Given the description of an element on the screen output the (x, y) to click on. 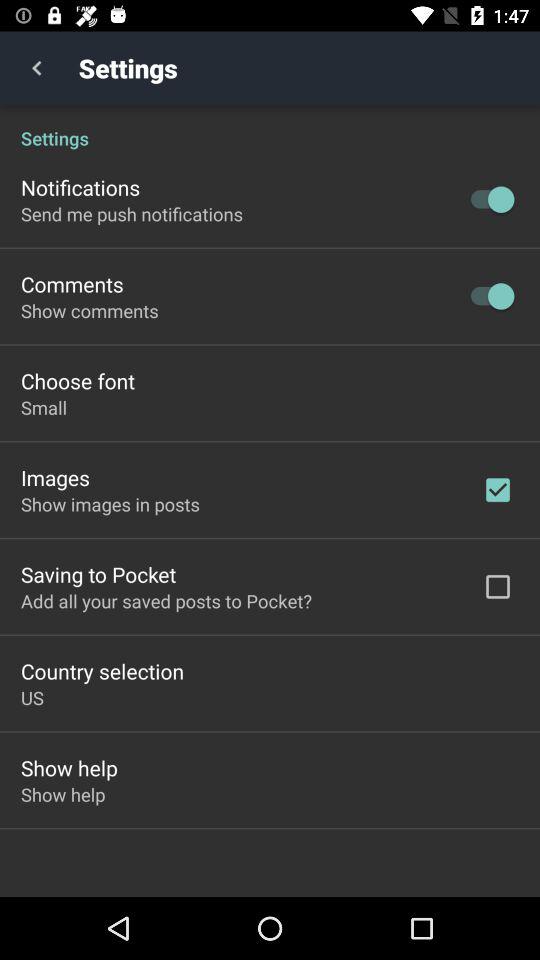
click the item below the show comments icon (78, 380)
